Given the description of an element on the screen output the (x, y) to click on. 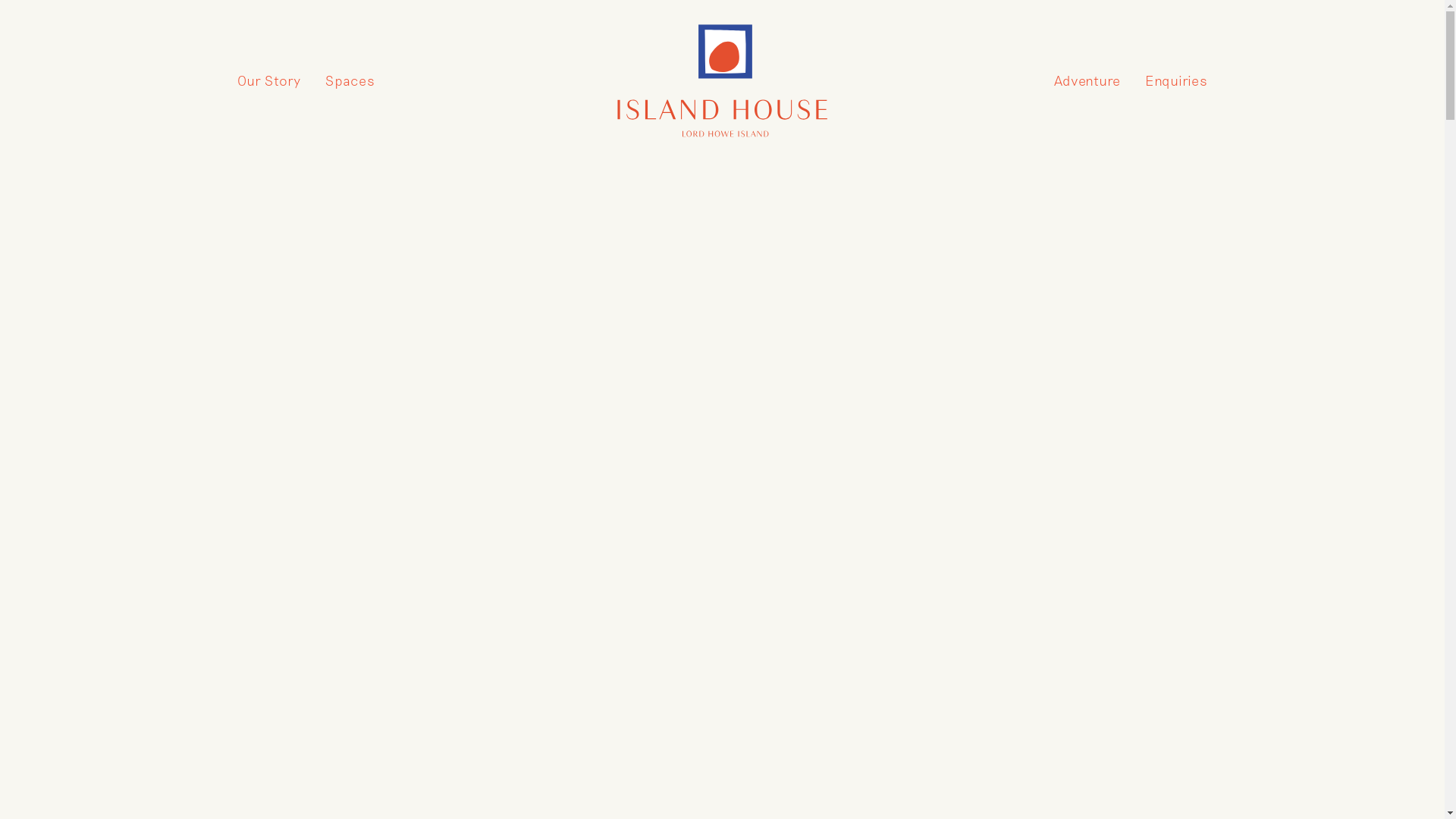
Enquiries Element type: text (1175, 80)
Adventure Element type: text (1086, 80)
Our Story Element type: text (268, 80)
